Given the description of an element on the screen output the (x, y) to click on. 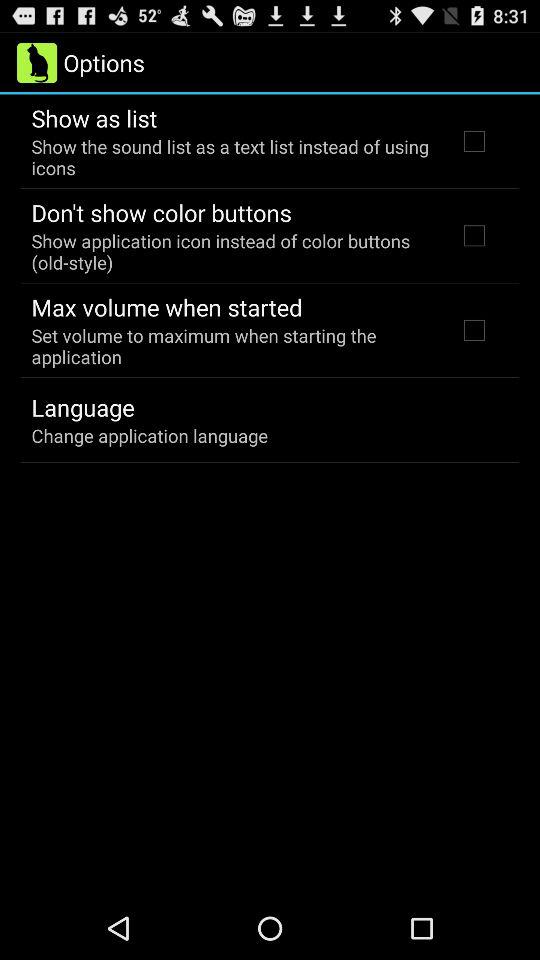
tap the show the sound (231, 157)
